Given the description of an element on the screen output the (x, y) to click on. 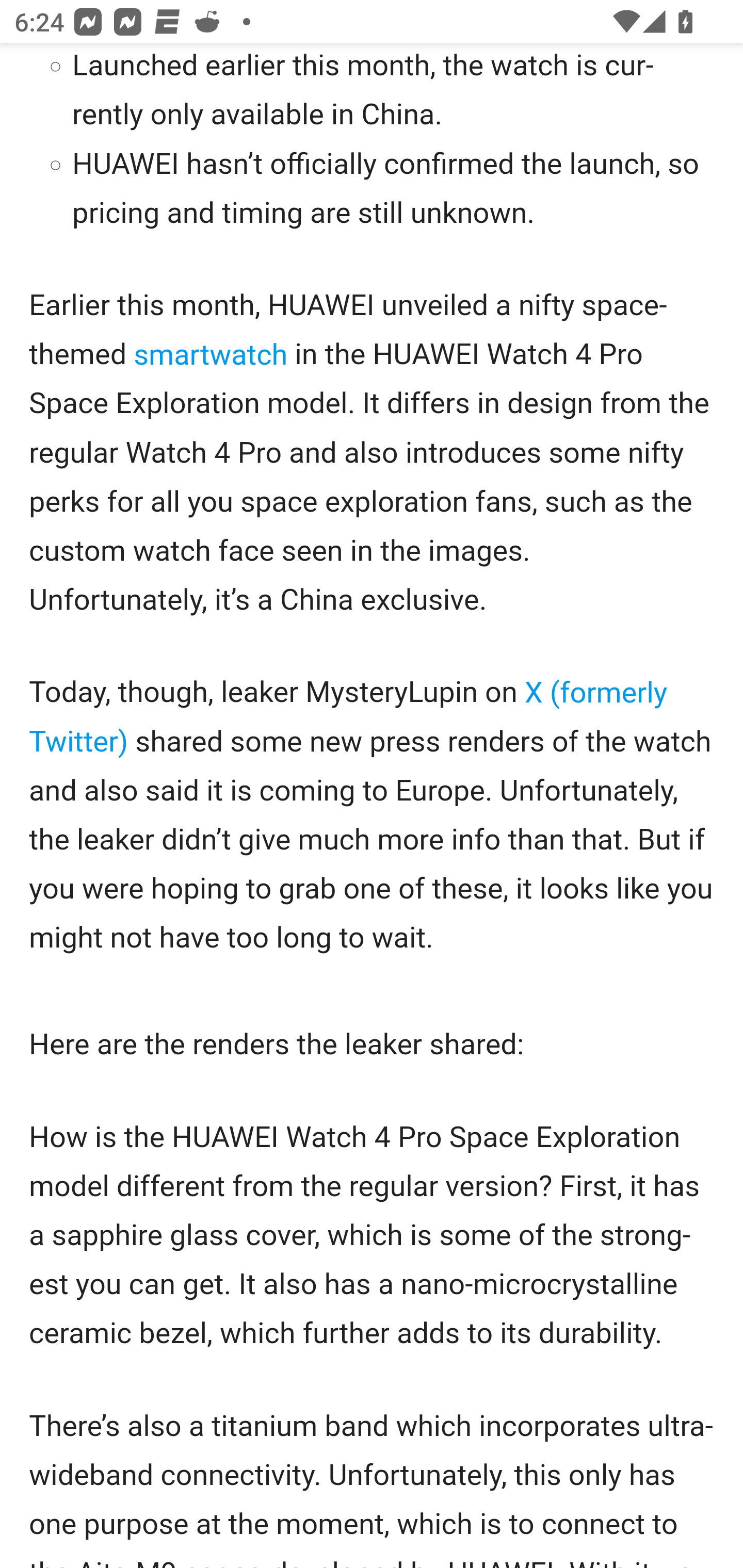
smartwatch (211, 355)
X (formerly Twitter) (347, 717)
